Given the description of an element on the screen output the (x, y) to click on. 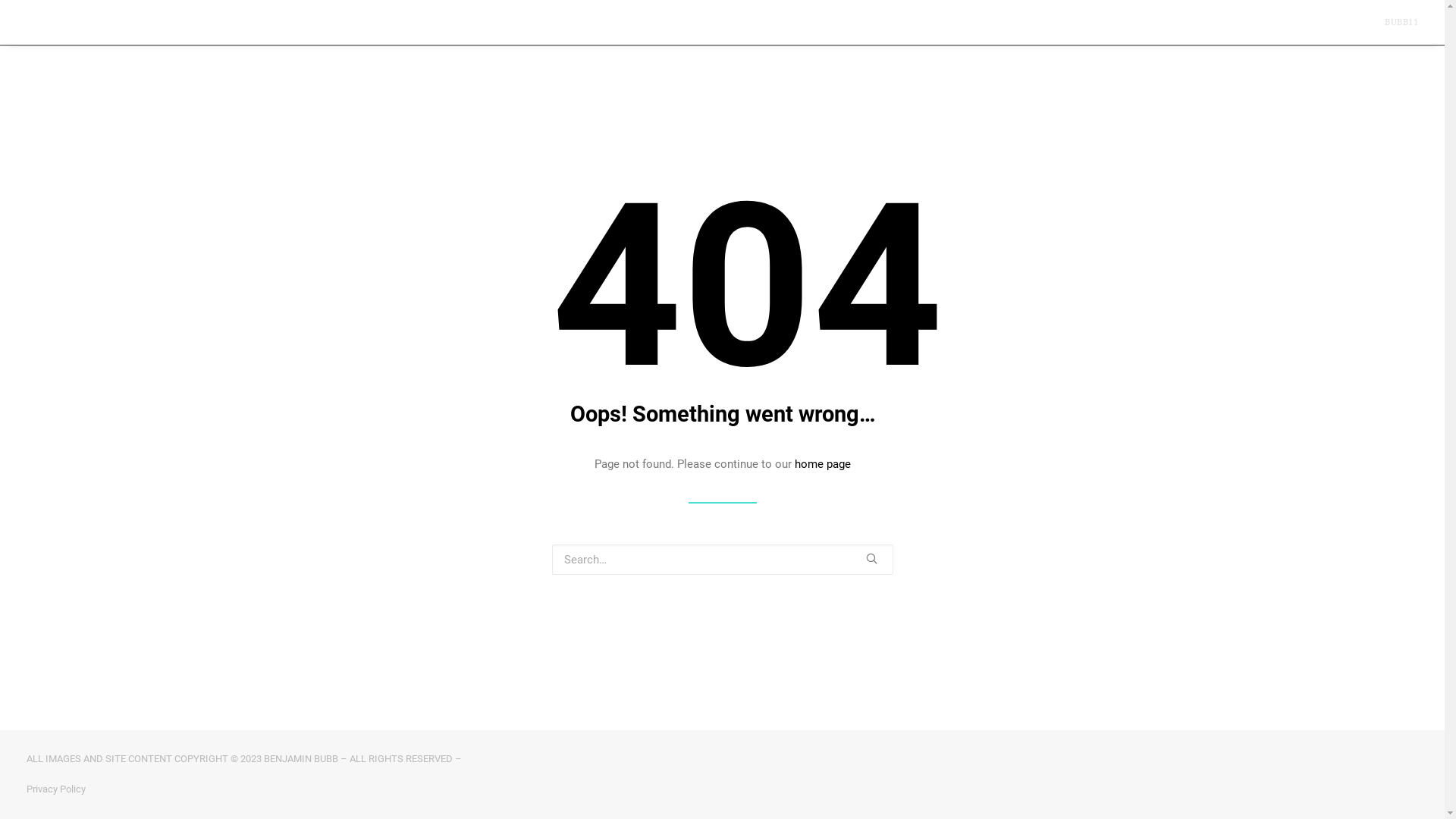
BUBB11 Element type: text (1401, 22)
home page Element type: text (822, 463)
Search for: Element type: hover (722, 559)
Privacy Policy Element type: text (54, 788)
